Given the description of an element on the screen output the (x, y) to click on. 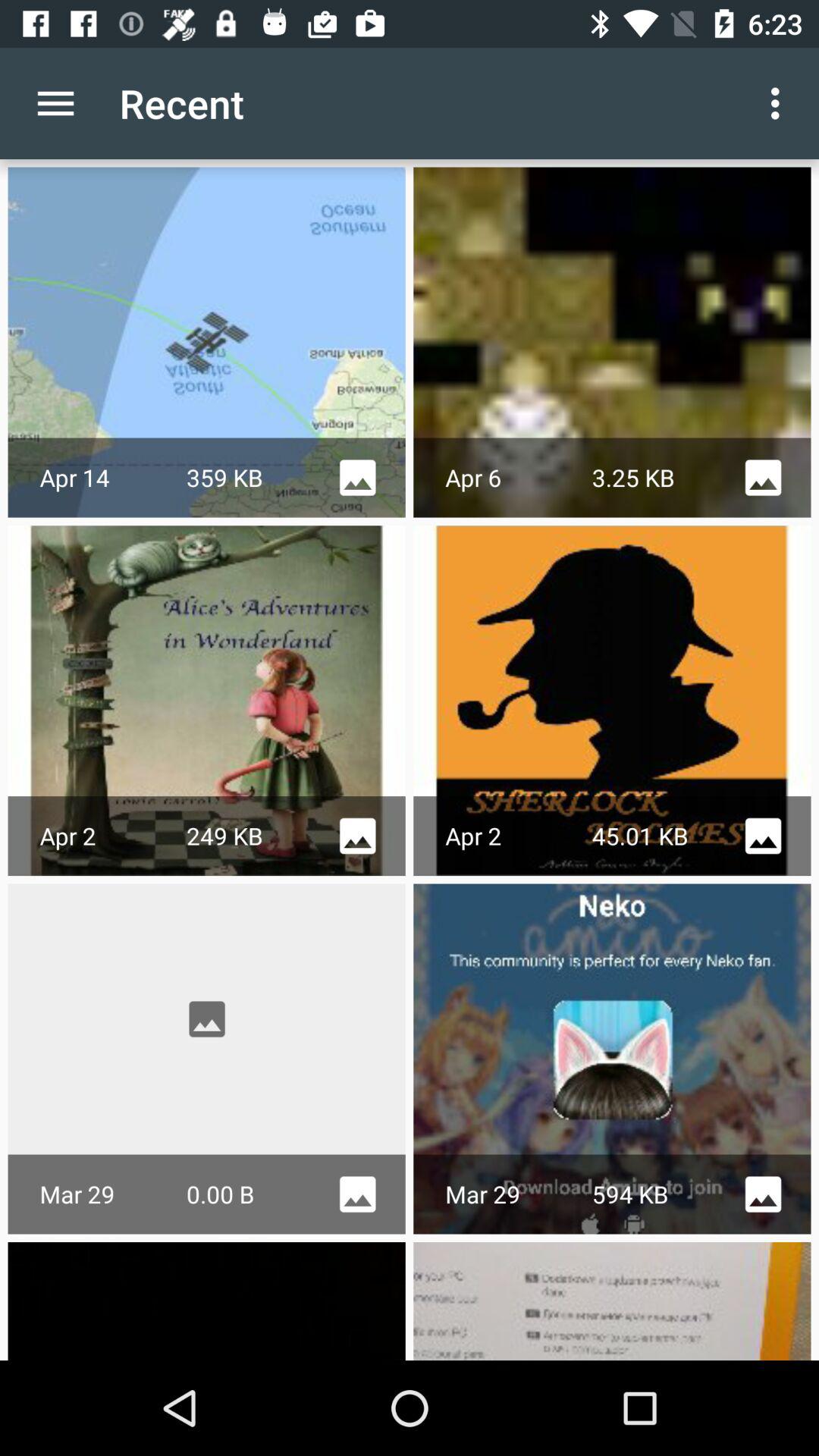
choose icon next to the recent icon (55, 103)
